Given the description of an element on the screen output the (x, y) to click on. 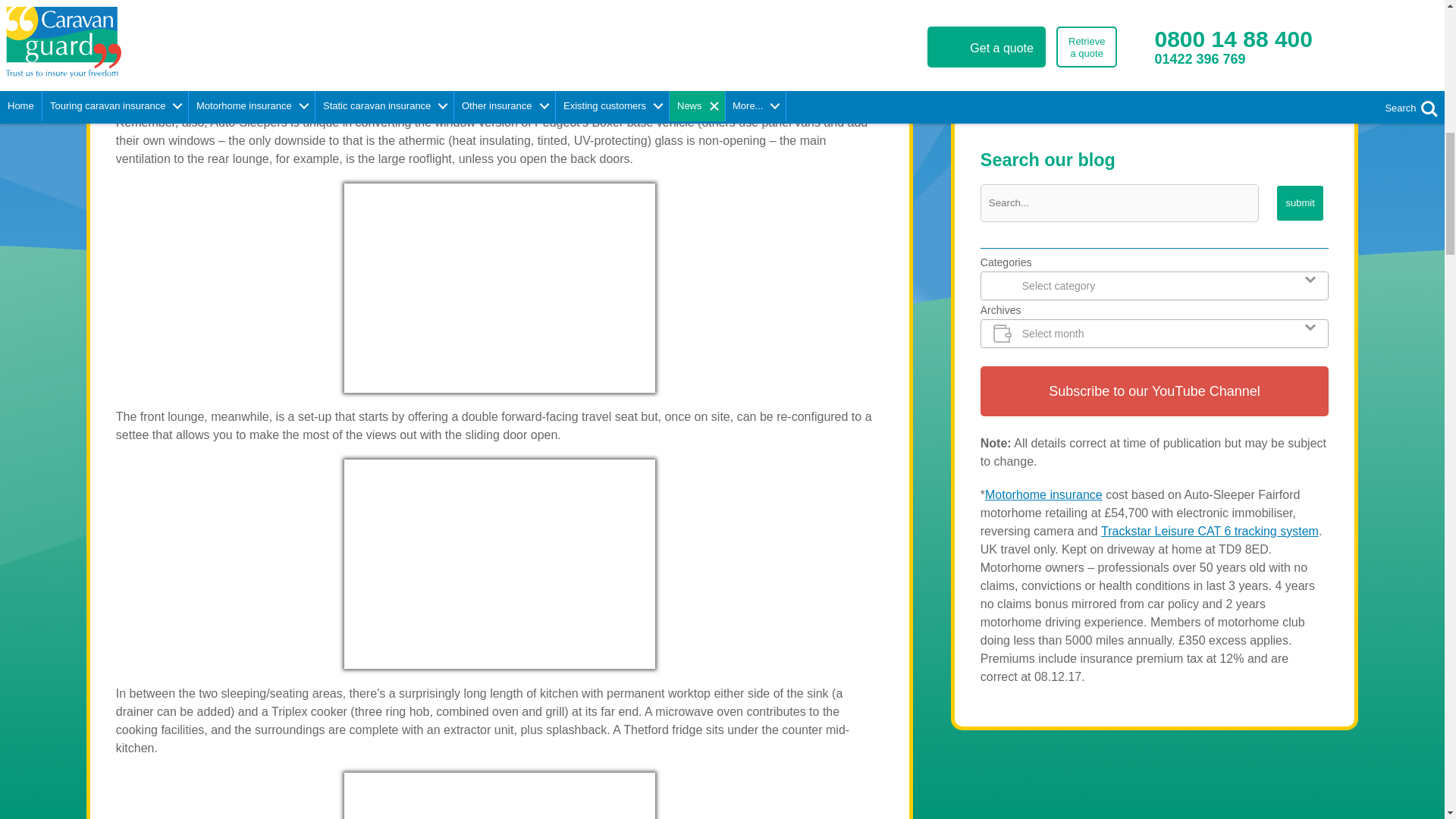
Auto-Sleeper Fairford Cab (499, 23)
Auto-Sleeper Fairford Floor Plan (1153, 64)
Auto-Sleeper Fairford Lounge (499, 288)
Auto-Sleeper Fairford Dining (499, 564)
Auto-Sleeper Fairford Kitchen (499, 796)
submit (1299, 202)
